Given the description of an element on the screen output the (x, y) to click on. 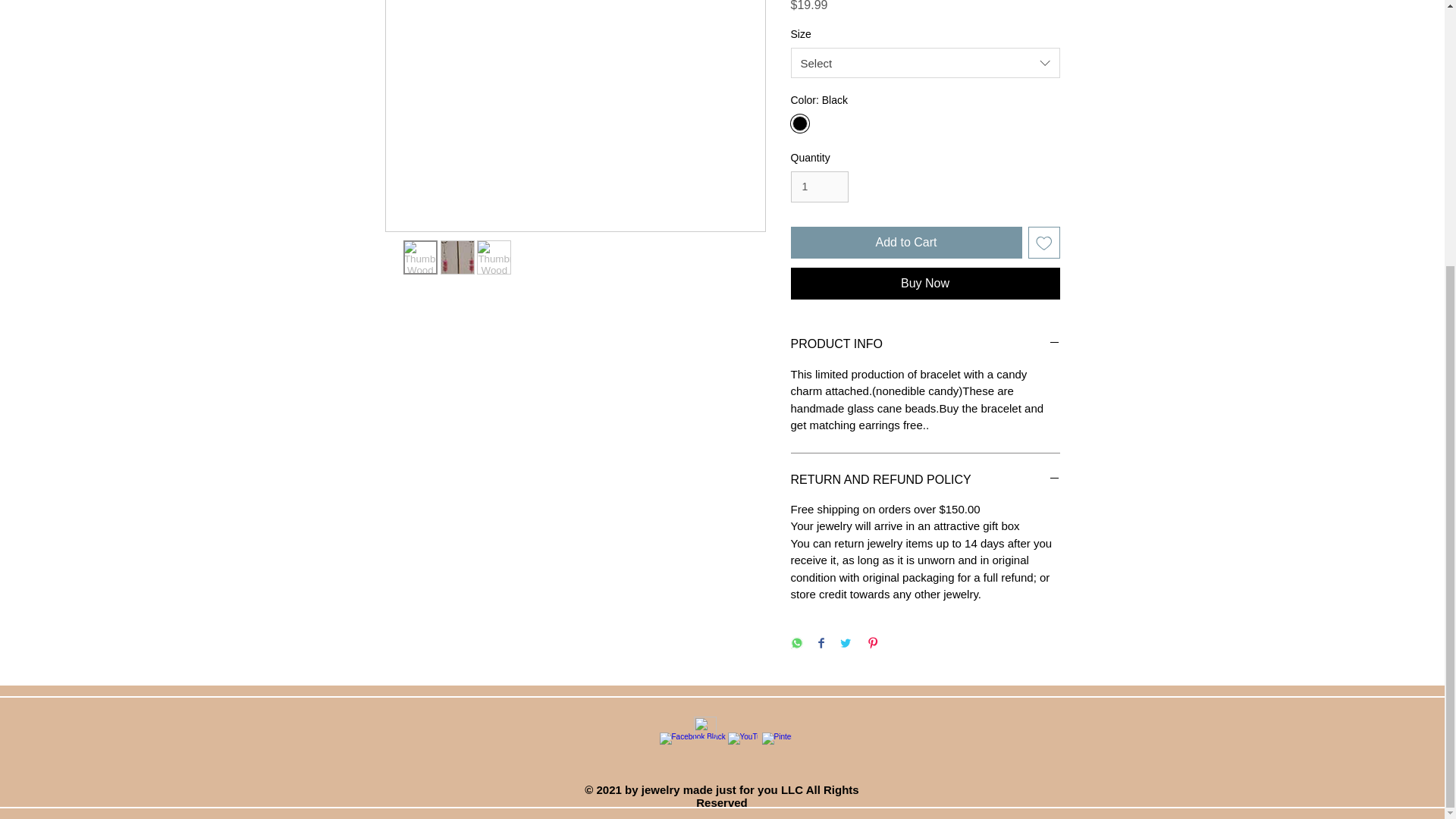
Buy Now (924, 283)
RETURN AND REFUND POLICY (924, 479)
Select (924, 62)
PRODUCT INFO (924, 343)
Add to Cart (906, 242)
1 (818, 186)
